Given the description of an element on the screen output the (x, y) to click on. 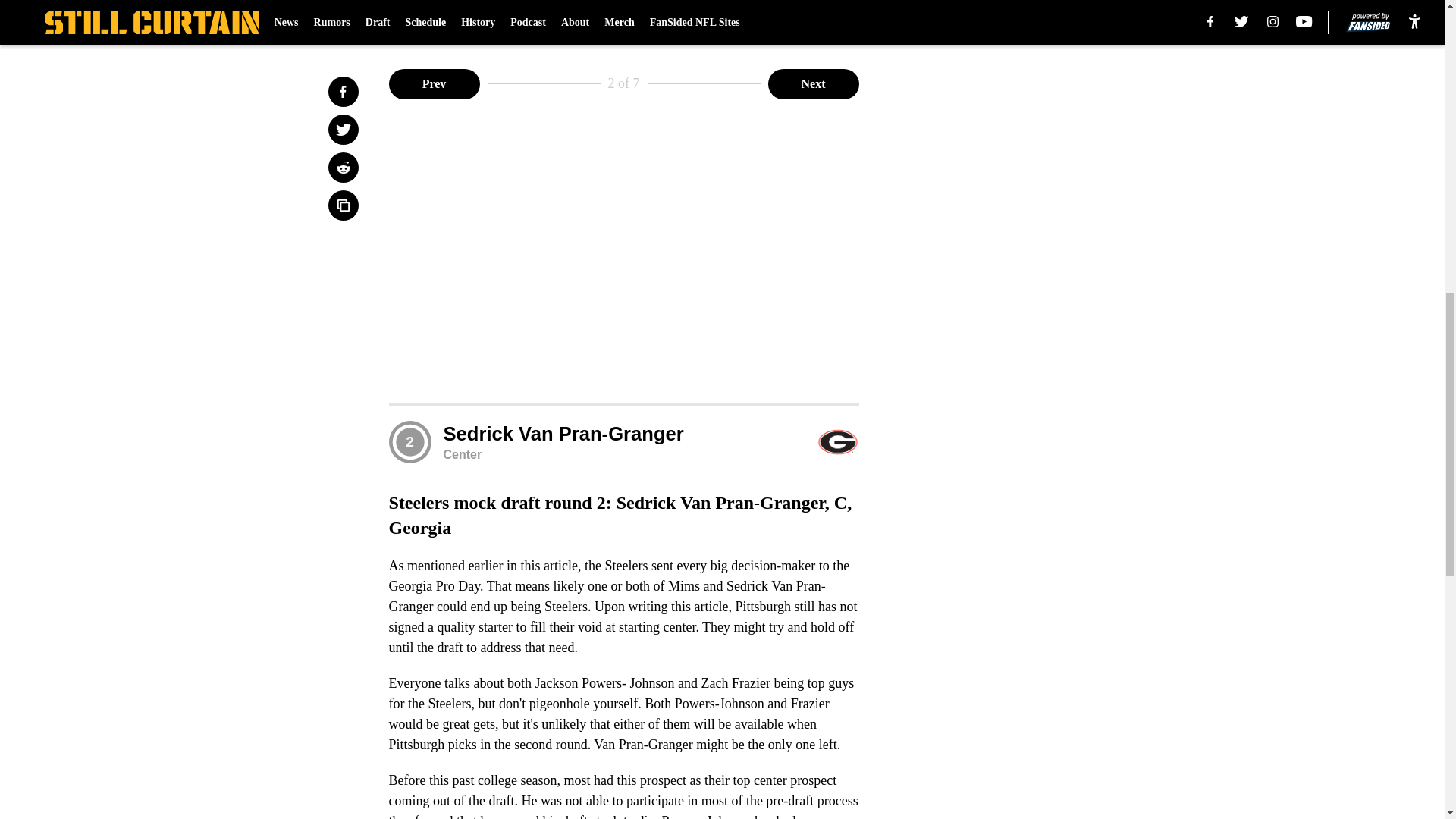
Prev (433, 82)
Next (813, 82)
